Given the description of an element on the screen output the (x, y) to click on. 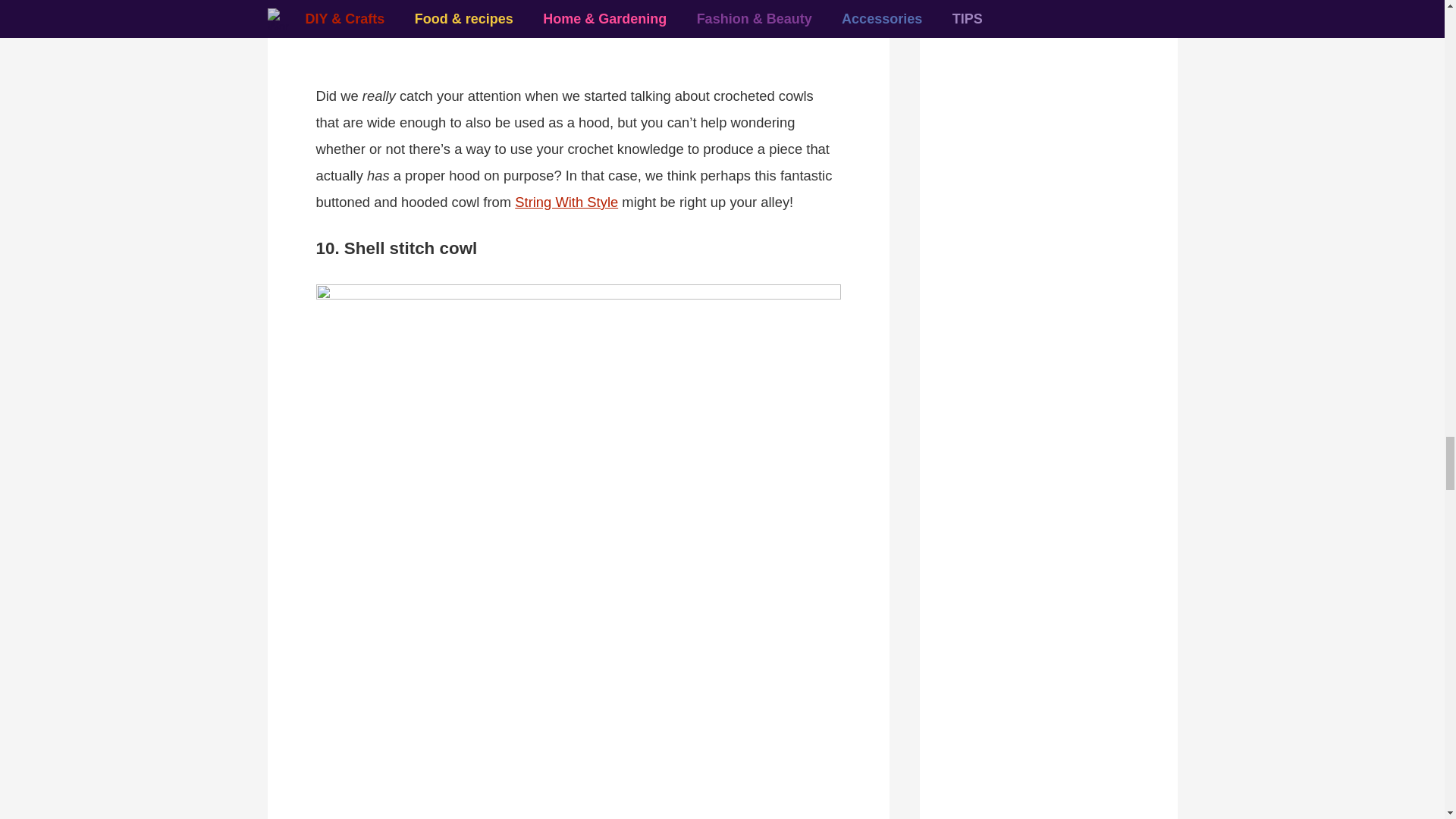
String With Style (566, 201)
